Given the description of an element on the screen output the (x, y) to click on. 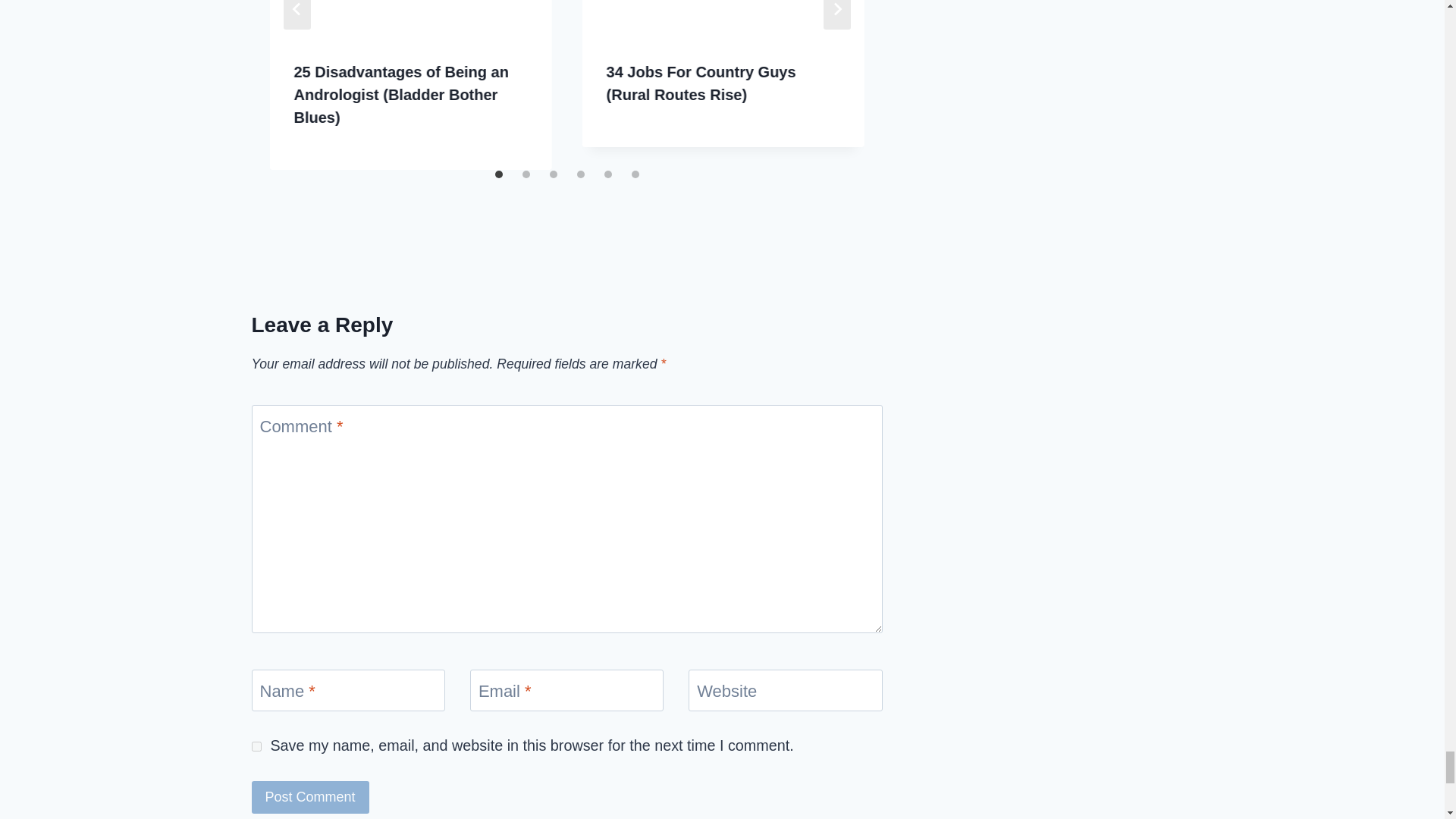
yes (256, 746)
Post Comment (310, 797)
